Given the description of an element on the screen output the (x, y) to click on. 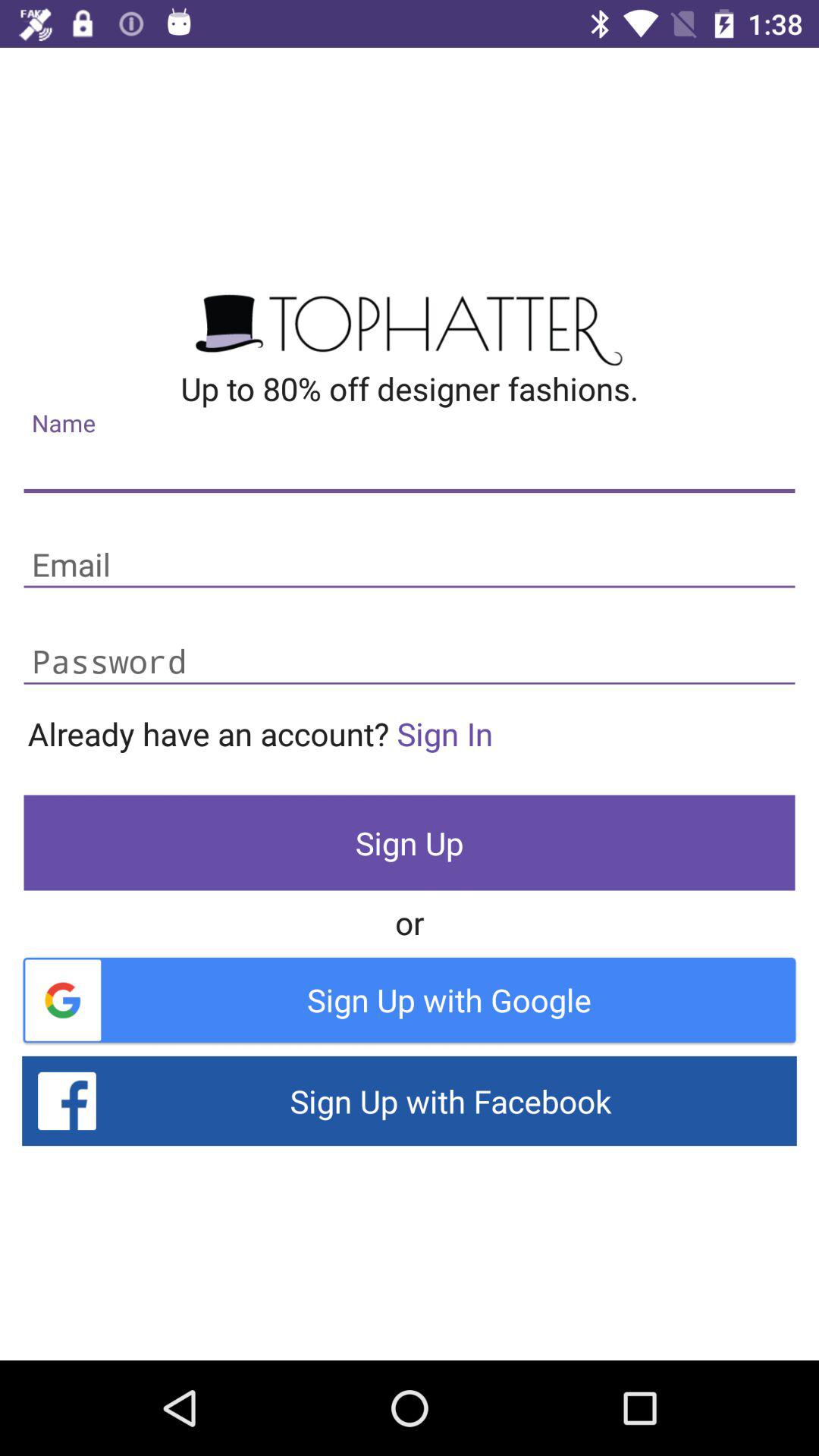
login (409, 565)
